Given the description of an element on the screen output the (x, y) to click on. 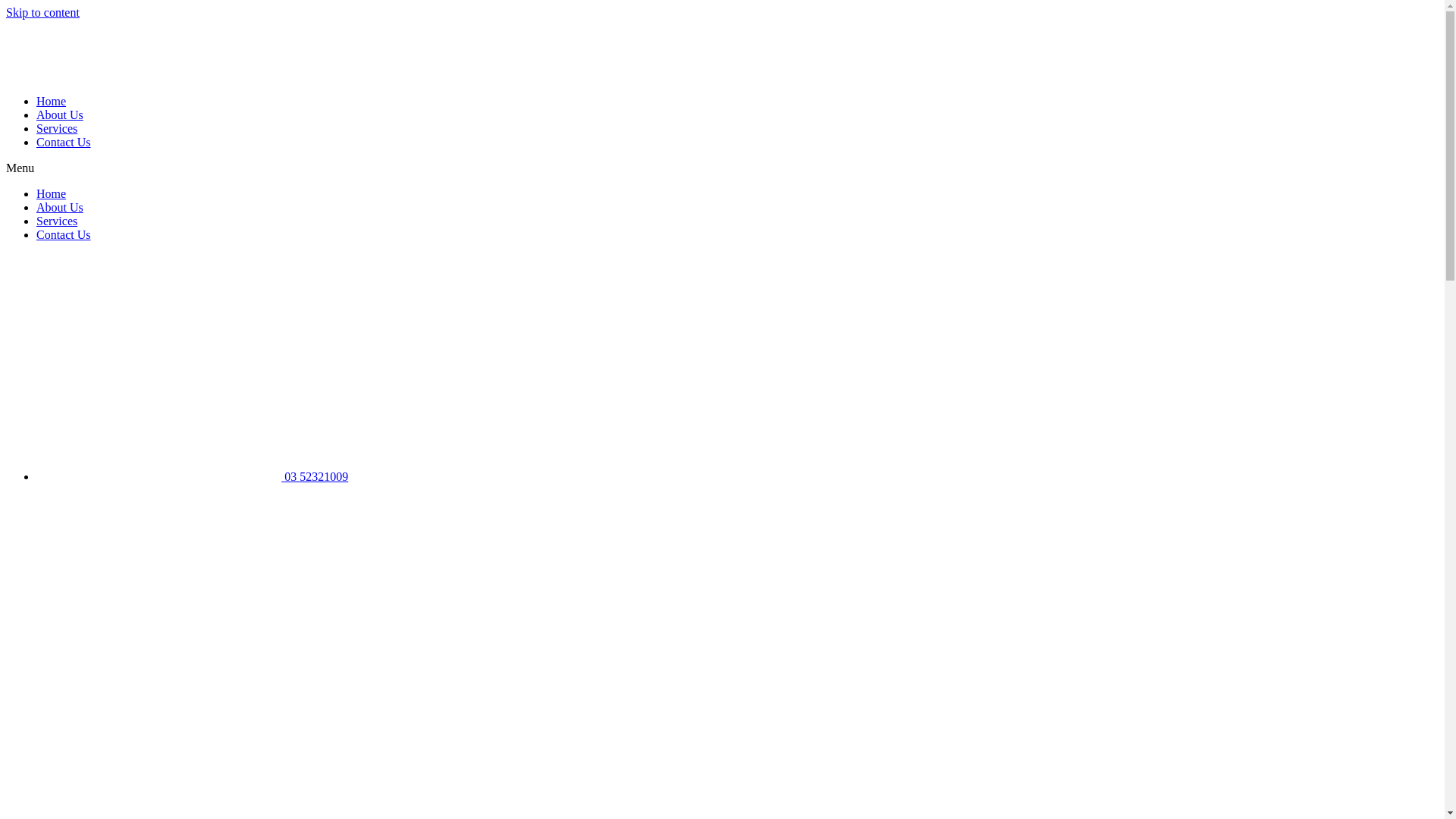
Skip to content Element type: text (42, 12)
Services Element type: text (56, 128)
About Us Element type: text (59, 206)
About Us Element type: text (59, 114)
Contact Us Element type: text (63, 141)
Services Element type: text (56, 220)
Home Element type: text (50, 100)
Contact Us Element type: text (63, 234)
Home Element type: text (50, 193)
